Given the description of an element on the screen output the (x, y) to click on. 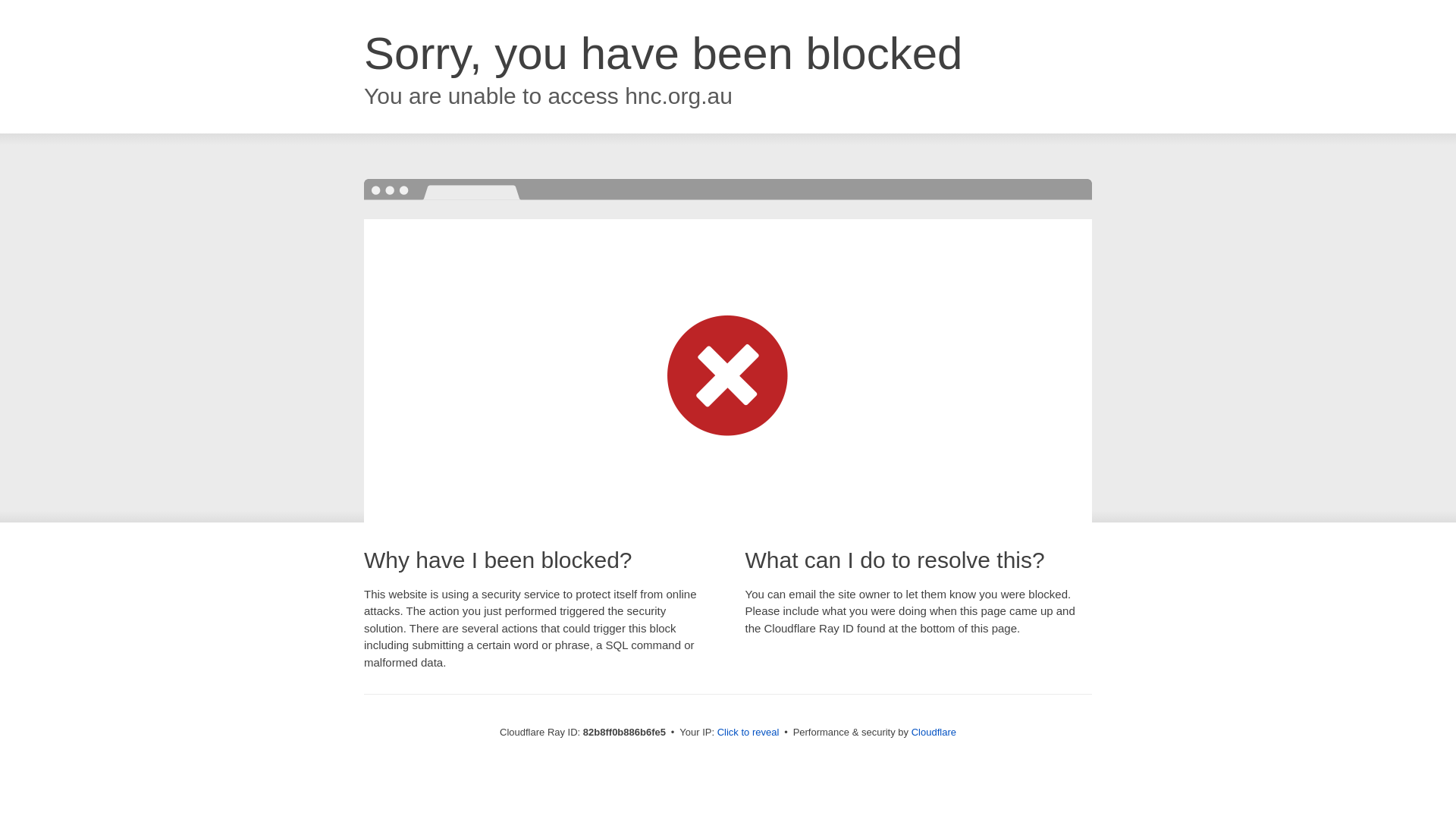
Cloudflare Element type: text (933, 731)
Click to reveal Element type: text (748, 732)
